Given the description of an element on the screen output the (x, y) to click on. 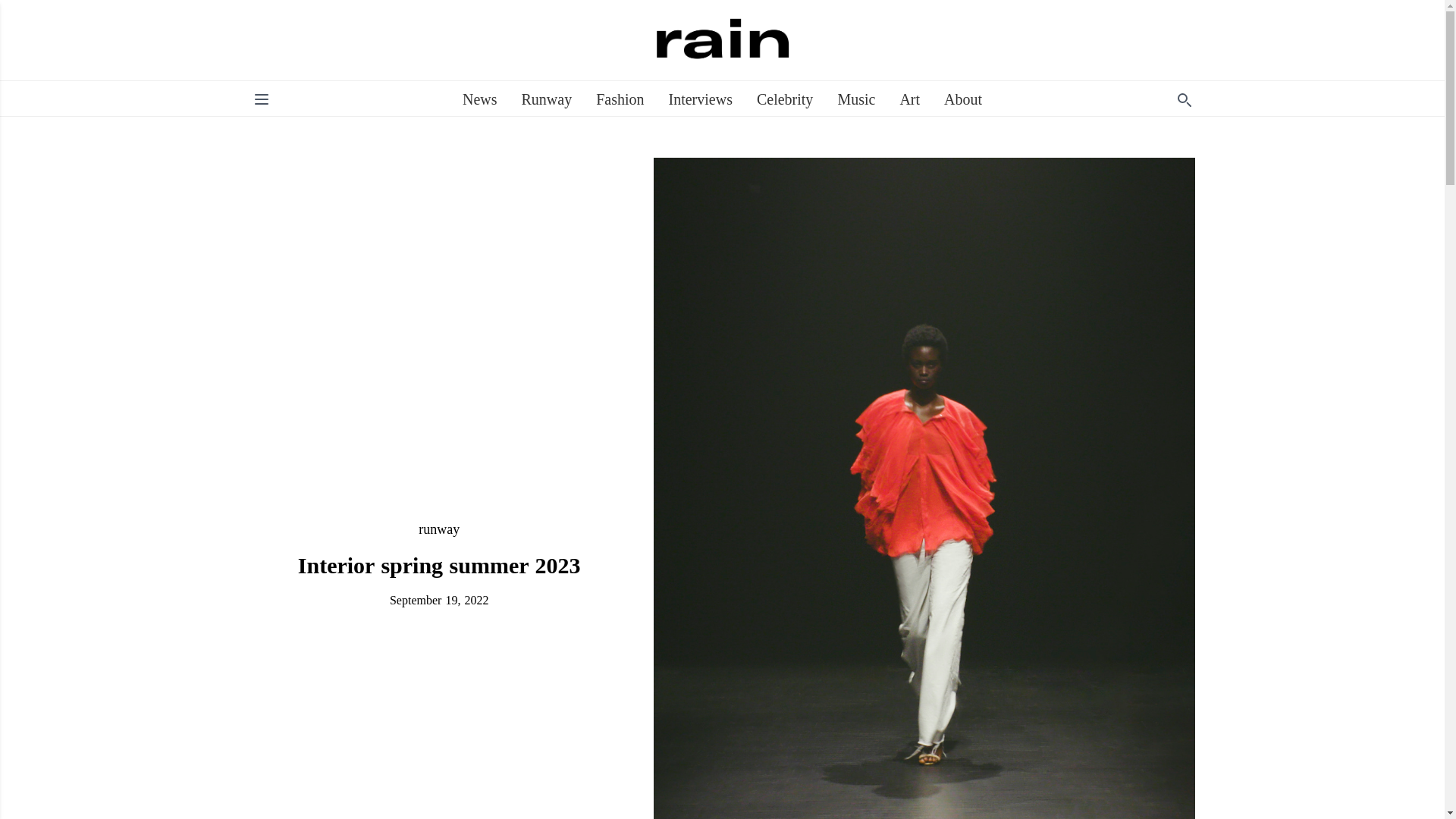
Runway (546, 99)
Music (856, 99)
Fashion (619, 99)
Interviews (700, 99)
News (480, 99)
runway (439, 528)
Celebrity (784, 99)
About (962, 99)
